Given the description of an element on the screen output the (x, y) to click on. 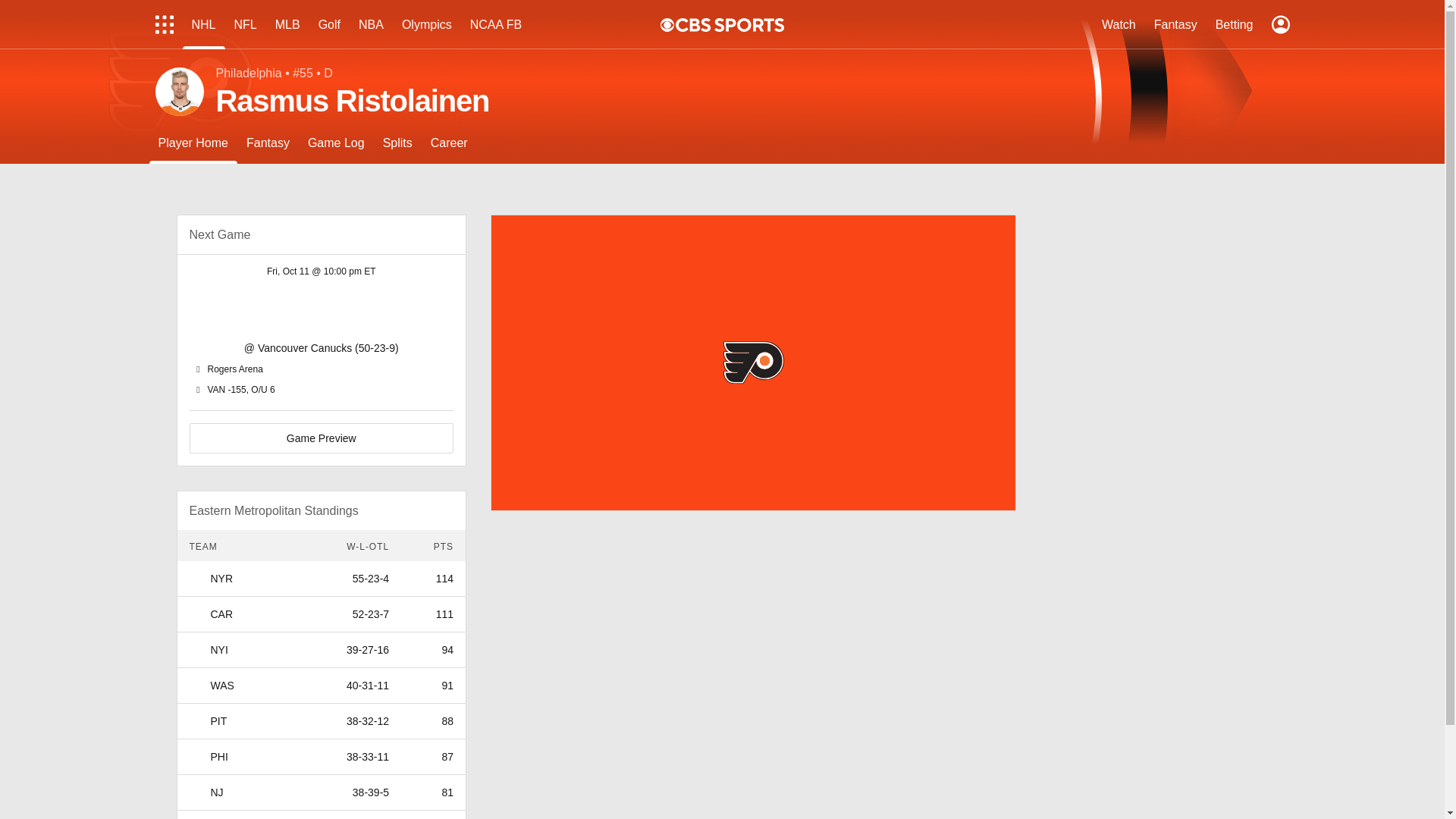
CBS Eye (667, 24)
CBS Logo (729, 24)
